Given the description of an element on the screen output the (x, y) to click on. 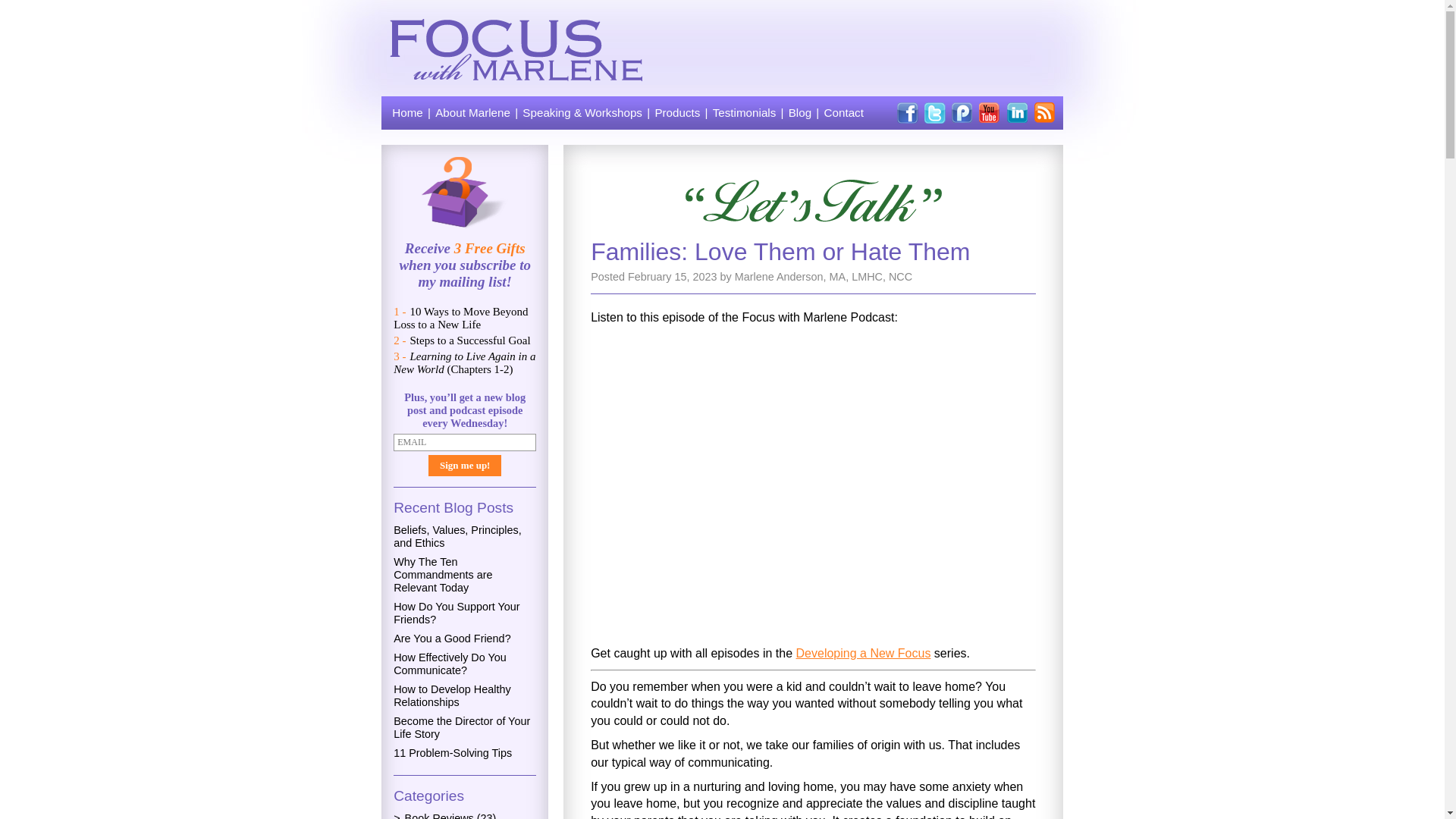
Sign me up! (464, 465)
Facebook (907, 112)
P (962, 112)
Why The Ten Commandments are Relevant Today (442, 574)
Testimonials (744, 112)
Sign me up! (464, 465)
How Effectively Do You Communicate? (449, 663)
Developing a New Focus (863, 653)
YouTube (989, 112)
About Marlene (472, 112)
